Given the description of an element on the screen output the (x, y) to click on. 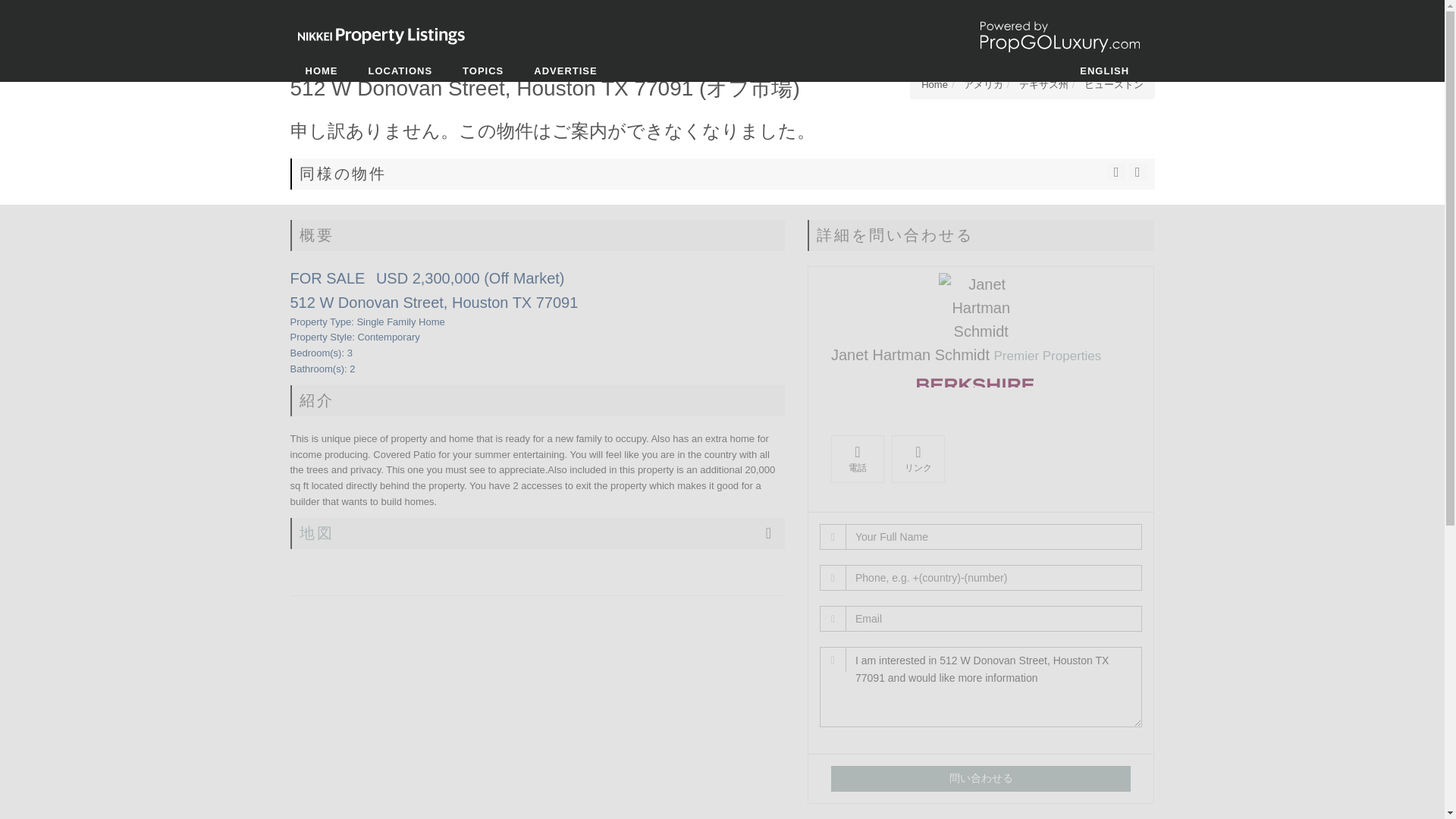
LOCATIONS (400, 71)
ADVERTISE (564, 71)
HOME (320, 71)
TOPICS (482, 71)
